Given the description of an element on the screen output the (x, y) to click on. 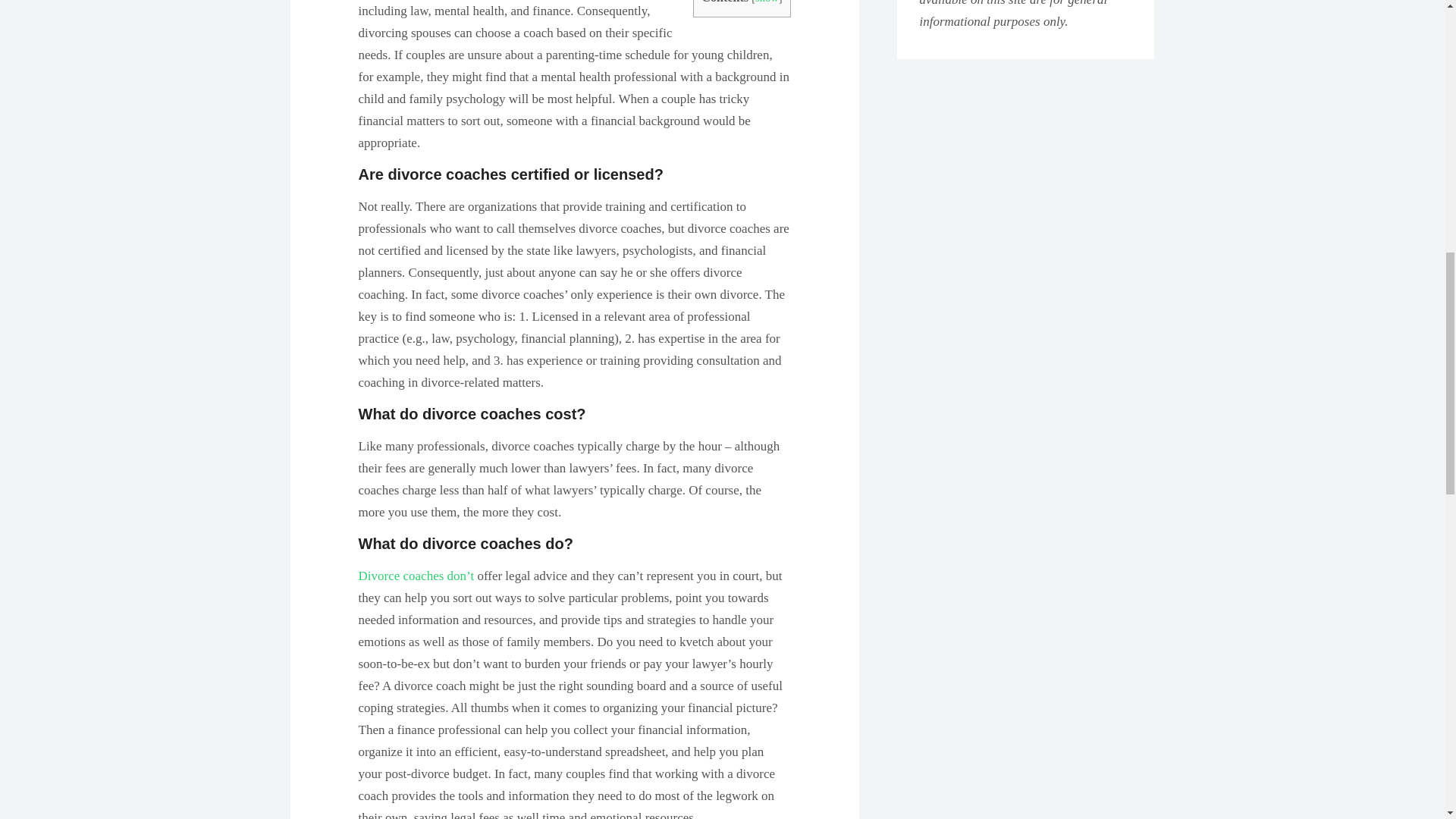
show (766, 2)
